Given the description of an element on the screen output the (x, y) to click on. 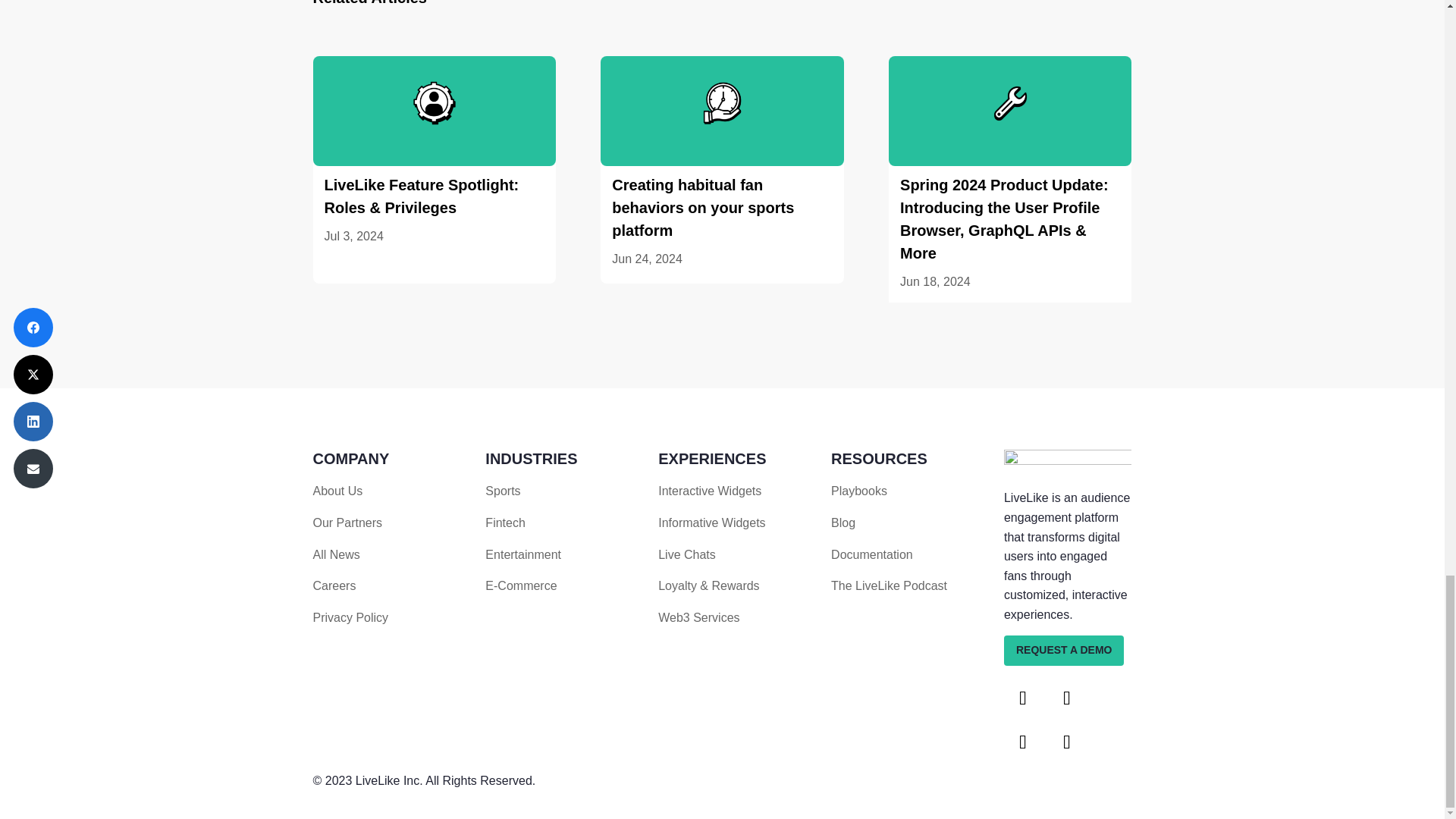
Follow on Instagram (1067, 742)
Follow on Facebook (1023, 698)
Follow on Twitter (1067, 698)
Follow on LinkedIn (1023, 742)
